Given the description of an element on the screen output the (x, y) to click on. 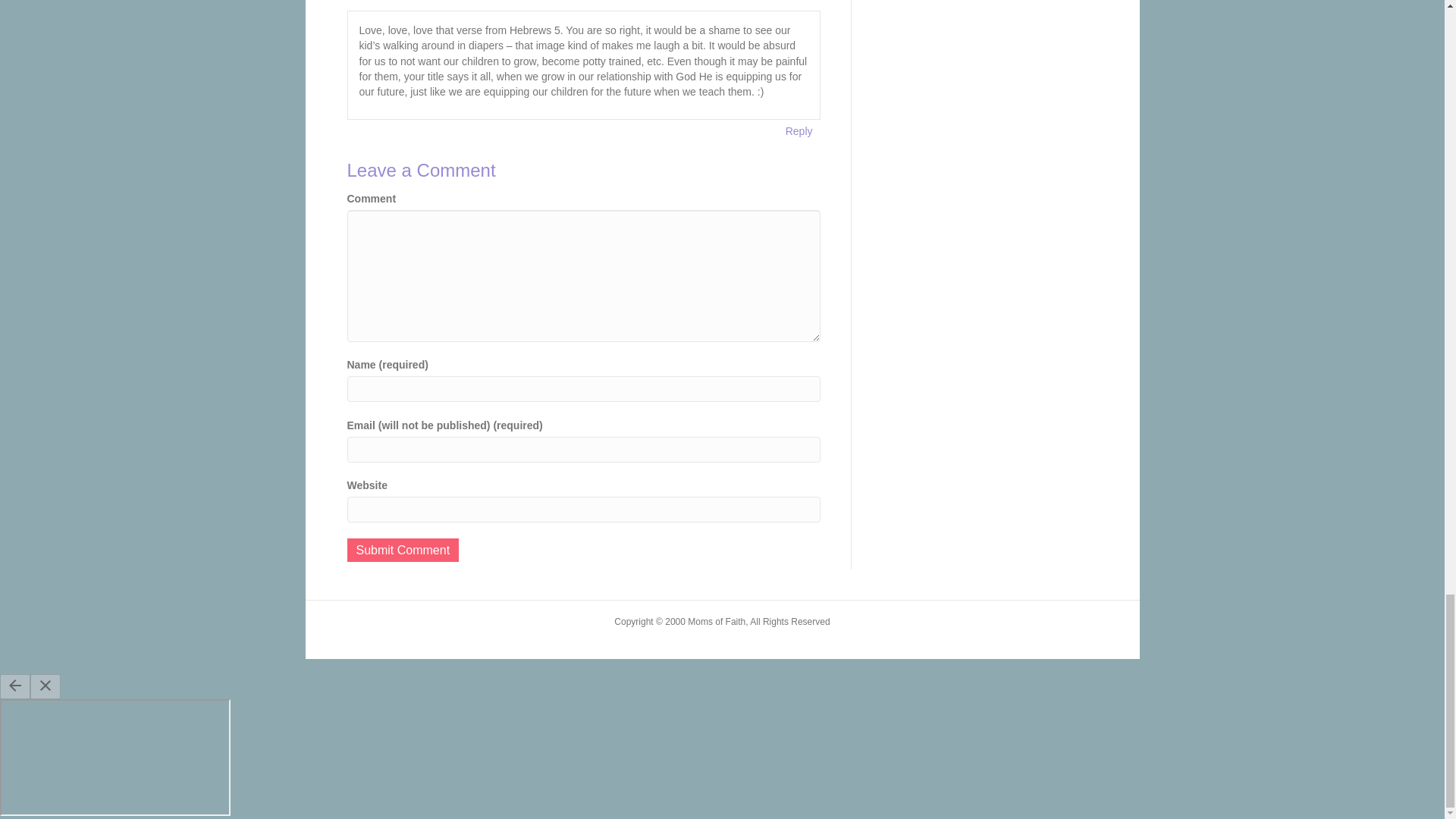
Submit Comment (403, 549)
